Given the description of an element on the screen output the (x, y) to click on. 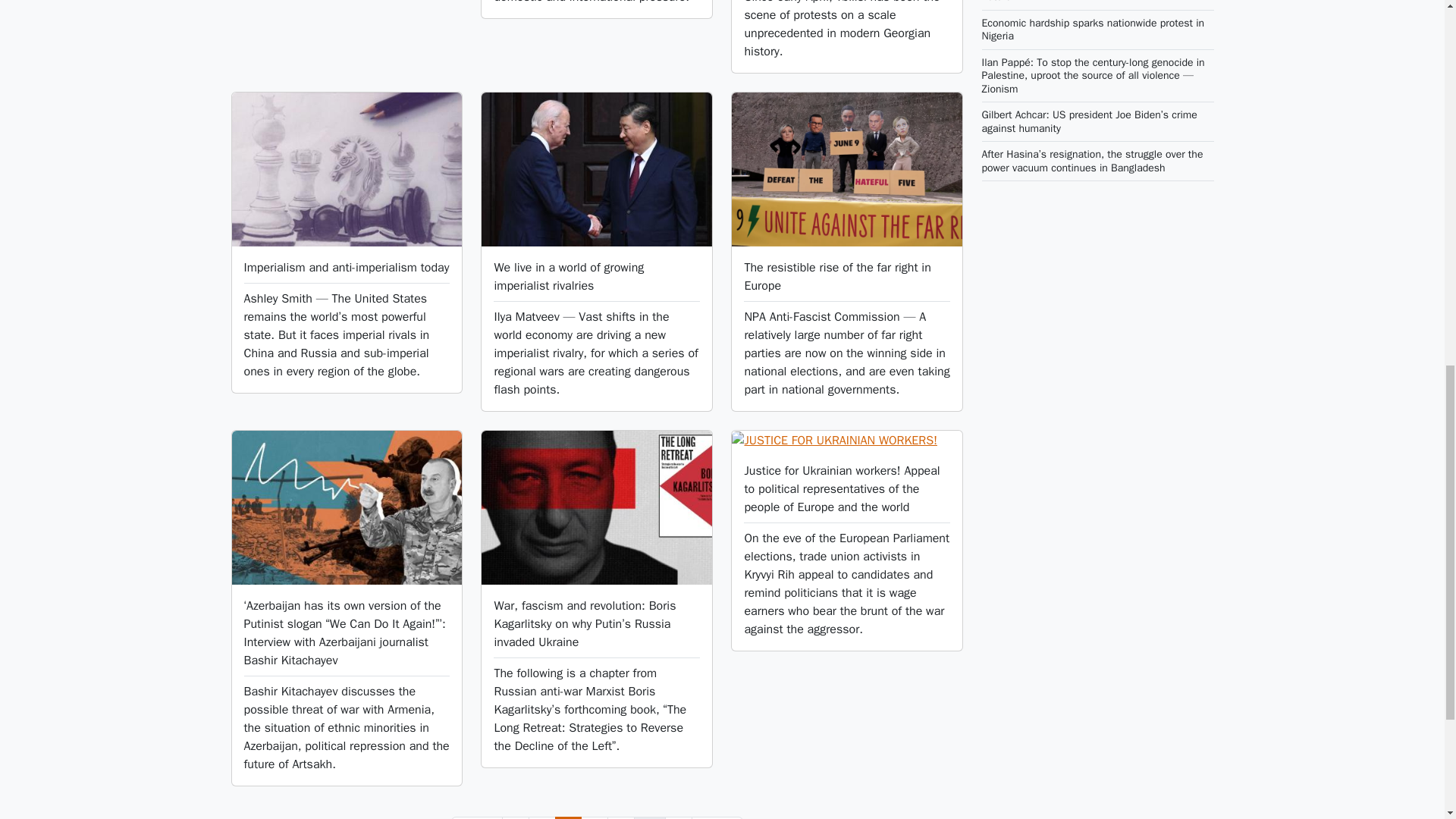
We live in a world of growing imperialist rivalries (568, 276)
Go to page 1 (542, 817)
The resistible rise of the far right in Europe (837, 276)
Go to page 4 (620, 817)
Go to first page (568, 817)
Go to page 3 (476, 817)
Current page (594, 817)
